Given the description of an element on the screen output the (x, y) to click on. 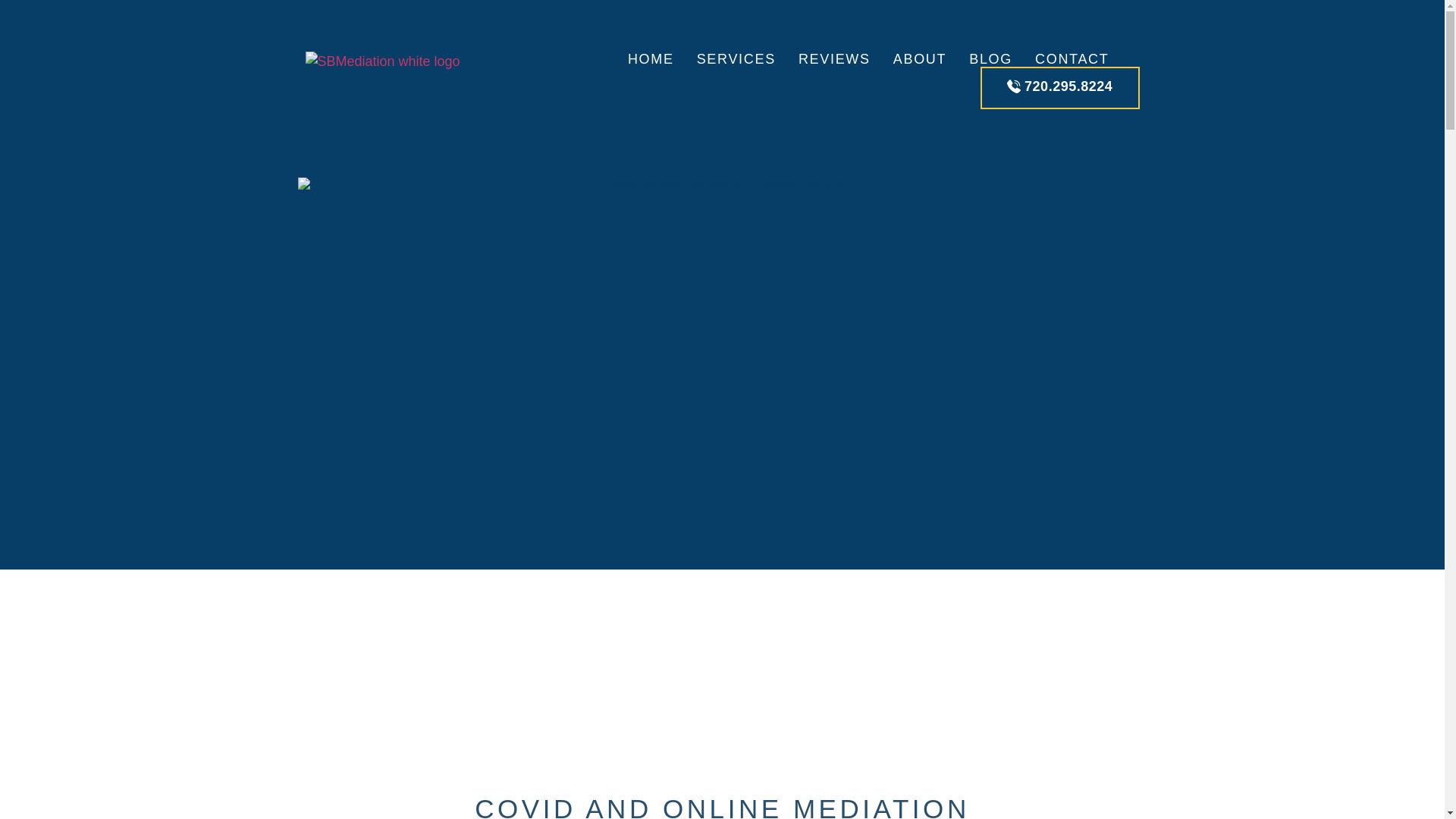
HOME (650, 58)
ABOUT (919, 58)
SERVICES (736, 58)
REVIEWS (833, 58)
BLOG (990, 58)
CONTACT (1072, 58)
